Given the description of an element on the screen output the (x, y) to click on. 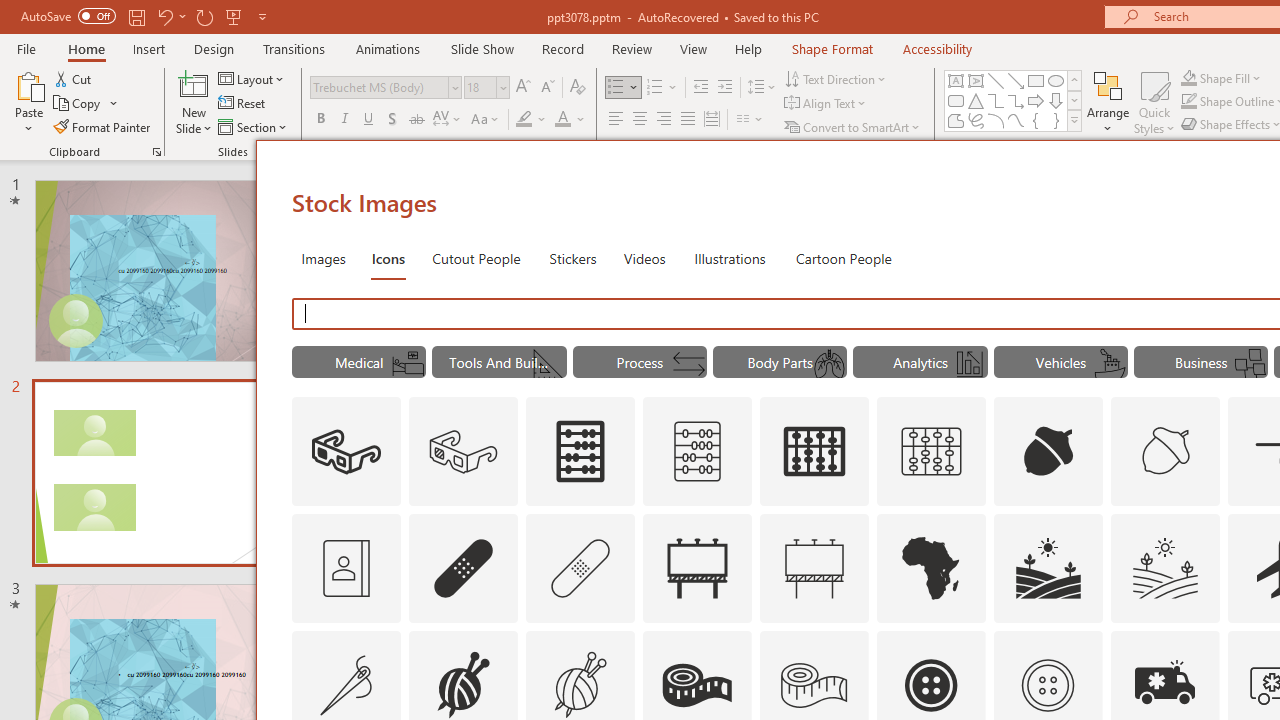
AutomationID: Icons_PostitNotes1_M (1249, 364)
AutomationID: Icons_Abacus (580, 452)
AutomationID: Icons_Abacus_M (697, 452)
AutomationID: Icons_Acorn (1048, 452)
"Business" Icons. (1201, 362)
